Given the description of an element on the screen output the (x, y) to click on. 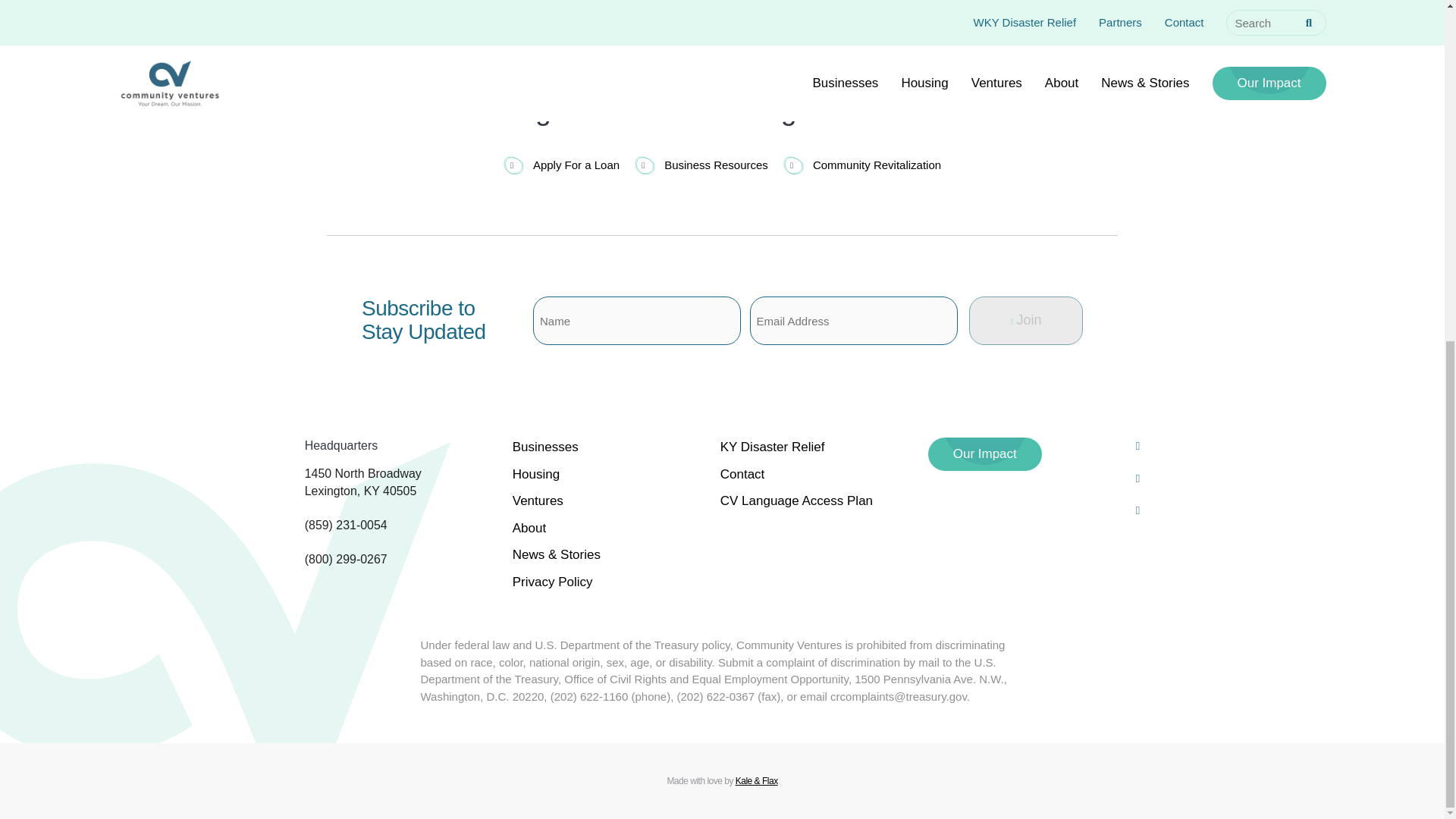
Ventures (537, 500)
Contact (742, 473)
CV Language Access Plan (796, 500)
Housing (535, 473)
Community Revitalization (861, 165)
Businesses (545, 446)
Our Impact (985, 453)
Business Resources (701, 165)
Apply For a Loan (561, 165)
Privacy Policy (552, 581)
About (529, 527)
Join (1026, 320)
KY Disaster Relief (772, 446)
